Given the description of an element on the screen output the (x, y) to click on. 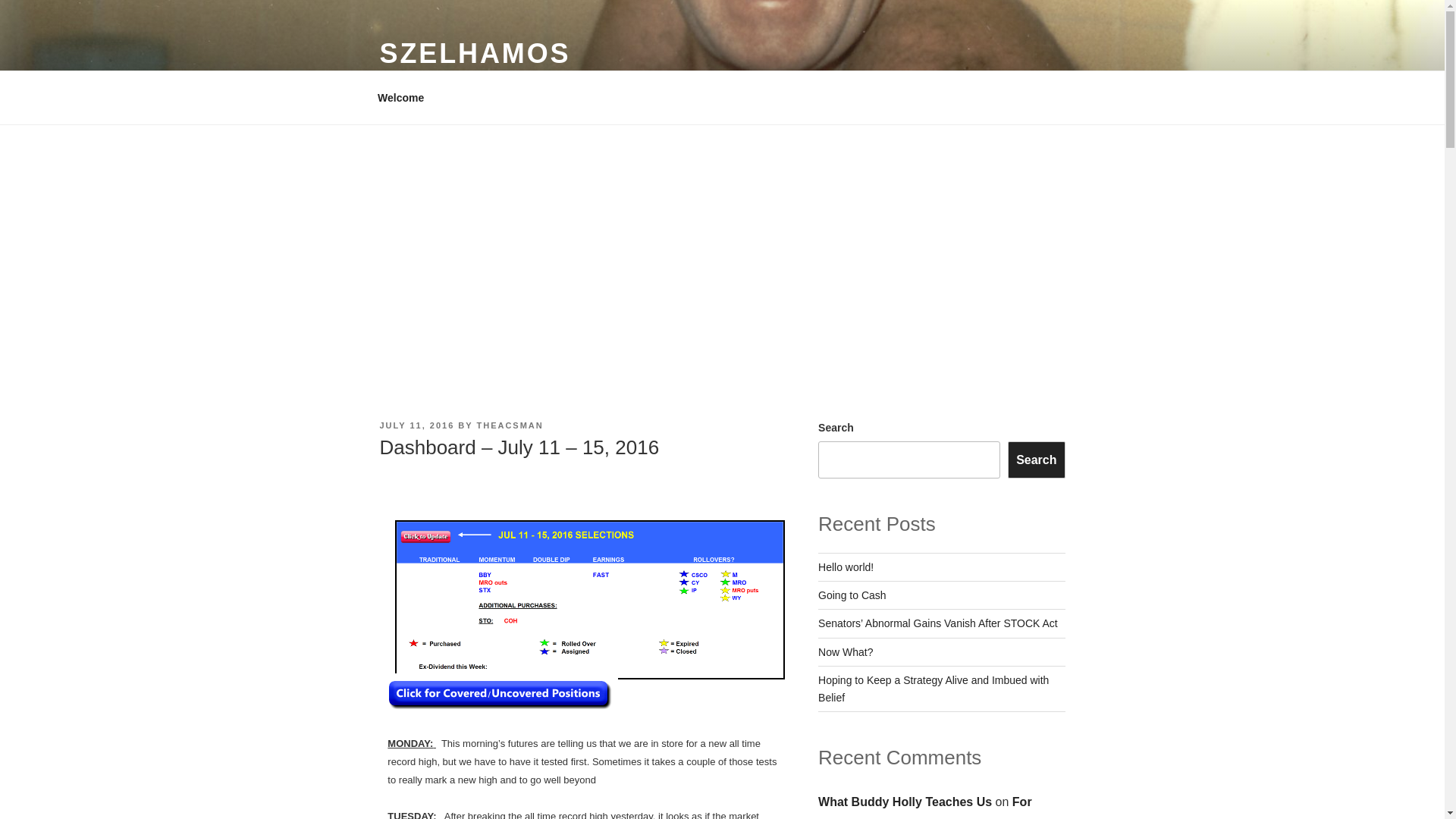
Search (1035, 459)
Selections (589, 600)
For Reformed Broker (925, 807)
Welcome (400, 97)
THEACSMAN (509, 424)
JULY 11, 2016 (416, 424)
SZELHAMOS (474, 52)
What Buddy Holly Teaches Us (904, 801)
Hoping to Keep a Strategy Alive and Imbued with Belief (933, 688)
Hello world! (845, 567)
